Given the description of an element on the screen output the (x, y) to click on. 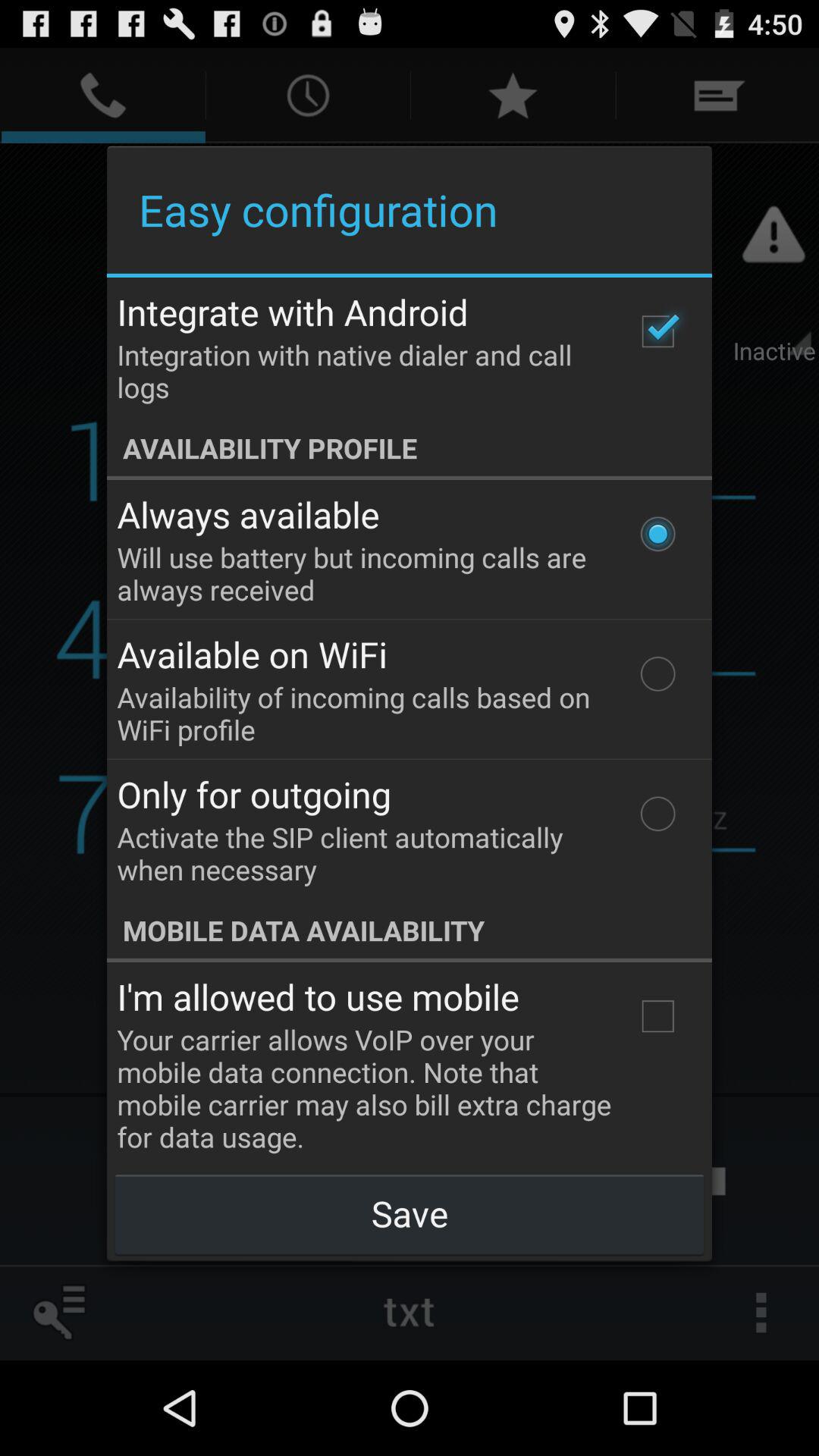
press the icon below your carrier allows (409, 1213)
